Given the description of an element on the screen output the (x, y) to click on. 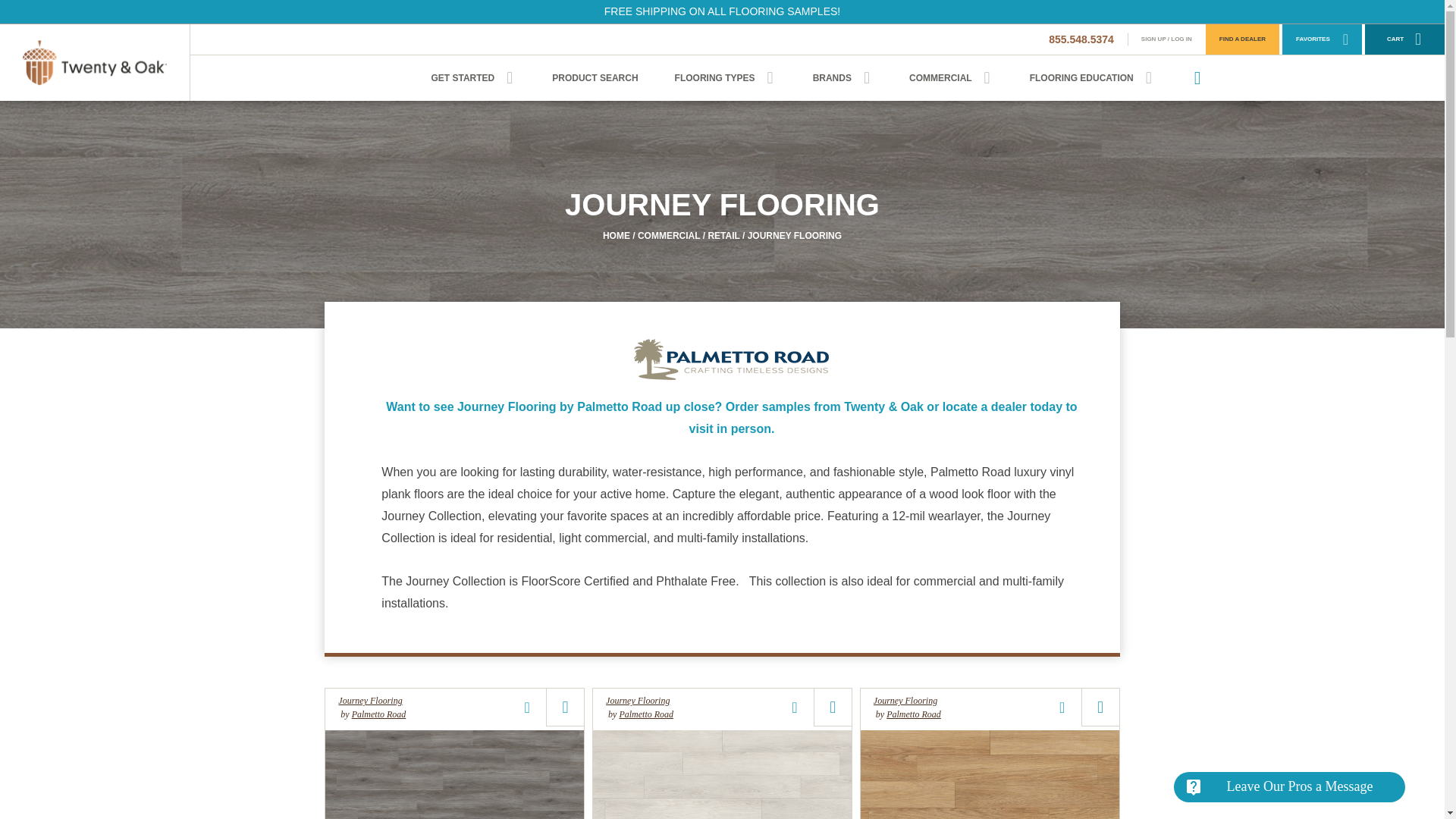
Add to Cart (832, 706)
FIND A DEALER (1242, 39)
BRANDS (842, 77)
PRODUCT SEARCH (595, 77)
Show Nav Items (769, 77)
Add to cart (1100, 706)
Add to Cart (1100, 706)
Show Nav Items (509, 77)
Leave Our Pros a Message (1289, 787)
FLOORING TYPES (725, 77)
855.548.5374 (1080, 39)
Add to Cart (565, 706)
GET STARTED (473, 77)
Add to cart (565, 706)
Add to cart (832, 706)
